Given the description of an element on the screen output the (x, y) to click on. 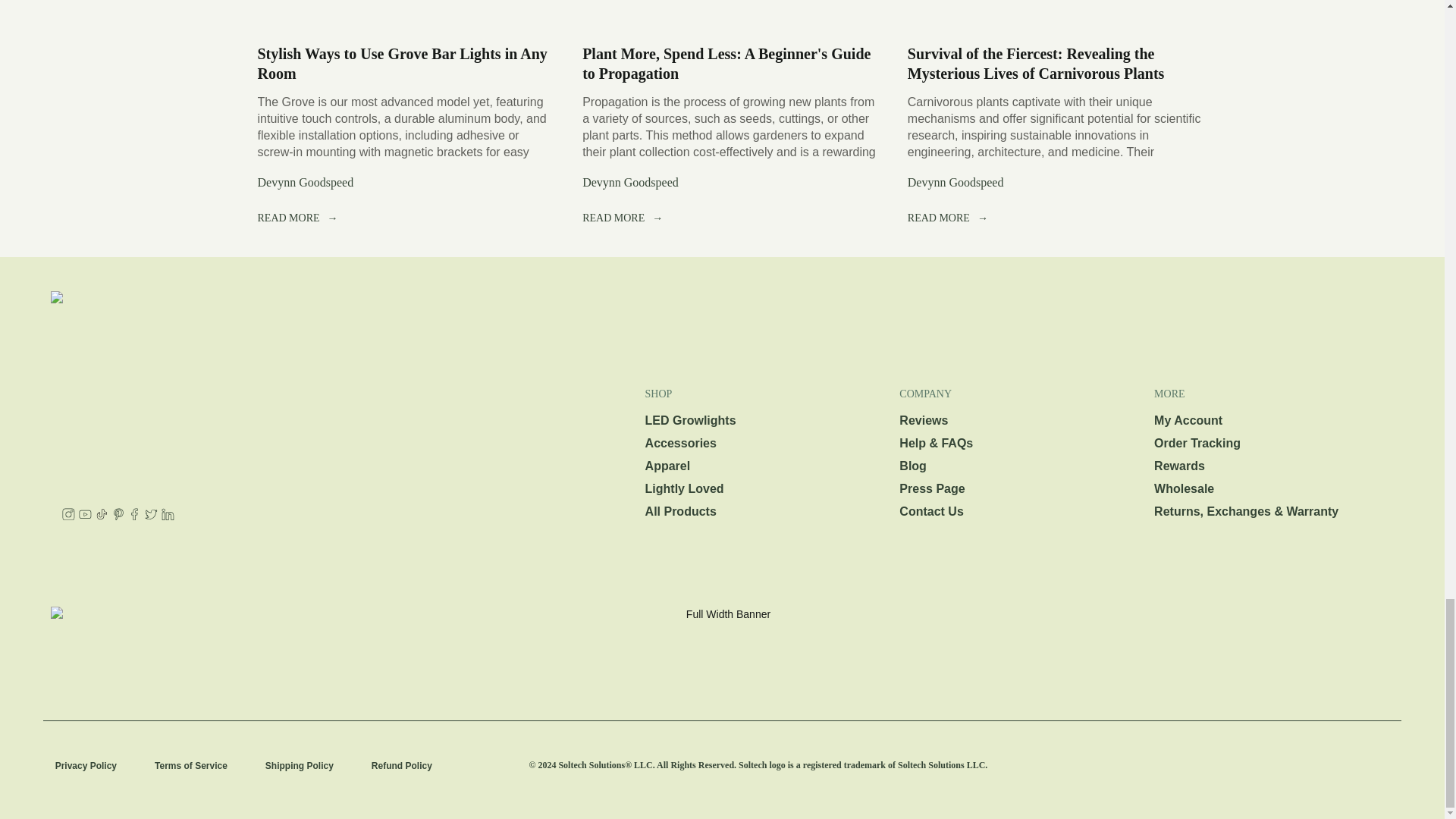
Plant More, Spend Less: A Beginner's Guide to Propagation (722, 13)
Soltech on Tiktok (101, 516)
Stylish Ways to Use Grove Bar Lights in Any Room (402, 63)
Soltech on Instagram (68, 516)
Plant More, Spend Less: A Beginner's Guide to Propagation (726, 63)
Soltech on YouTube (84, 516)
Soltech (453, 606)
Soltech on Pinterest (118, 516)
Stylish Ways to Use Grove Bar Lights in Any Room (398, 13)
